Given the description of an element on the screen output the (x, y) to click on. 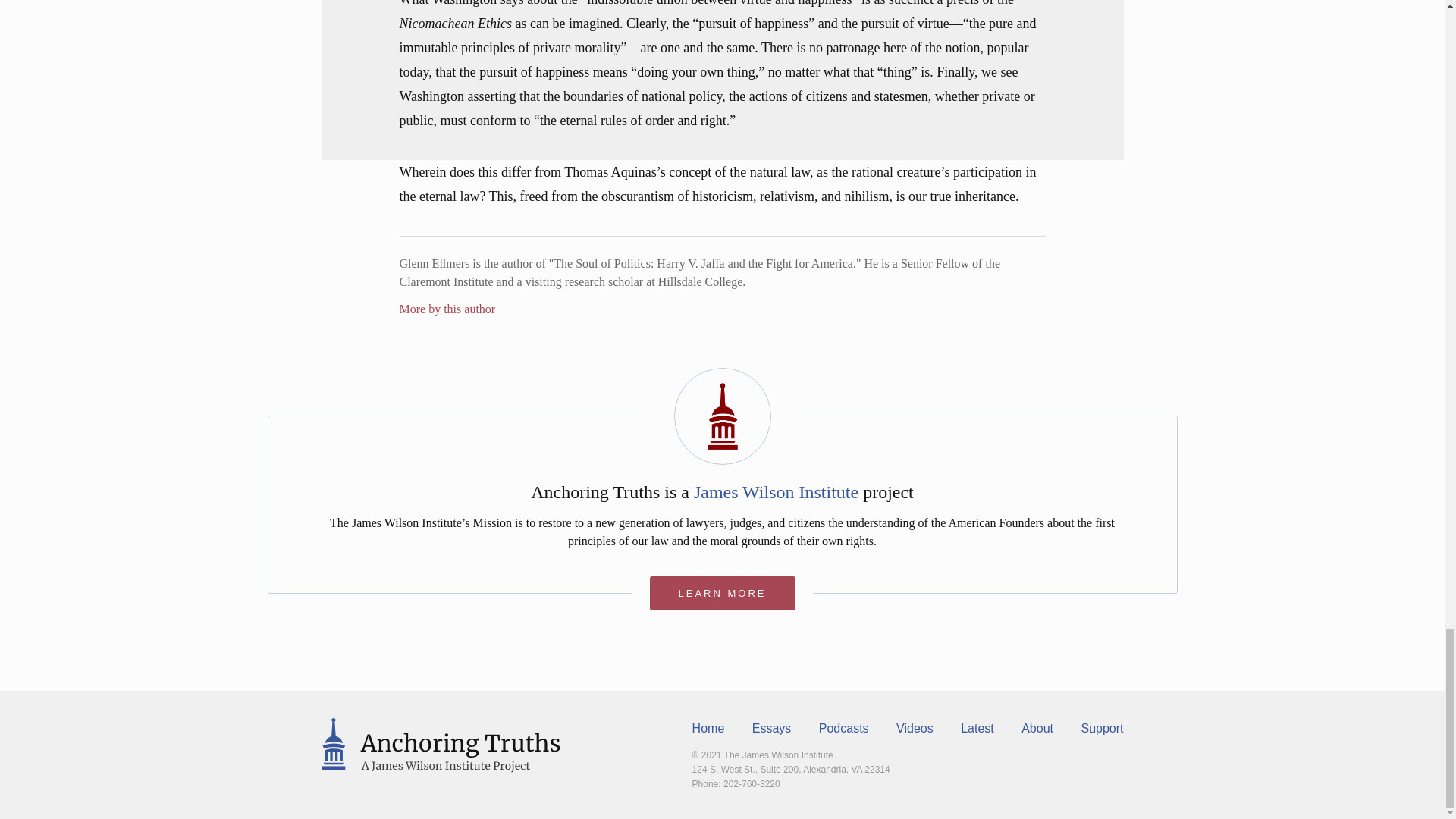
LEARN MORE (721, 593)
Support (1101, 727)
Podcasts (843, 727)
More by this author (446, 308)
Latest (977, 727)
James Wilson Institute (776, 492)
Essays (772, 727)
About (1037, 727)
Videos (914, 727)
Home (709, 727)
